Given the description of an element on the screen output the (x, y) to click on. 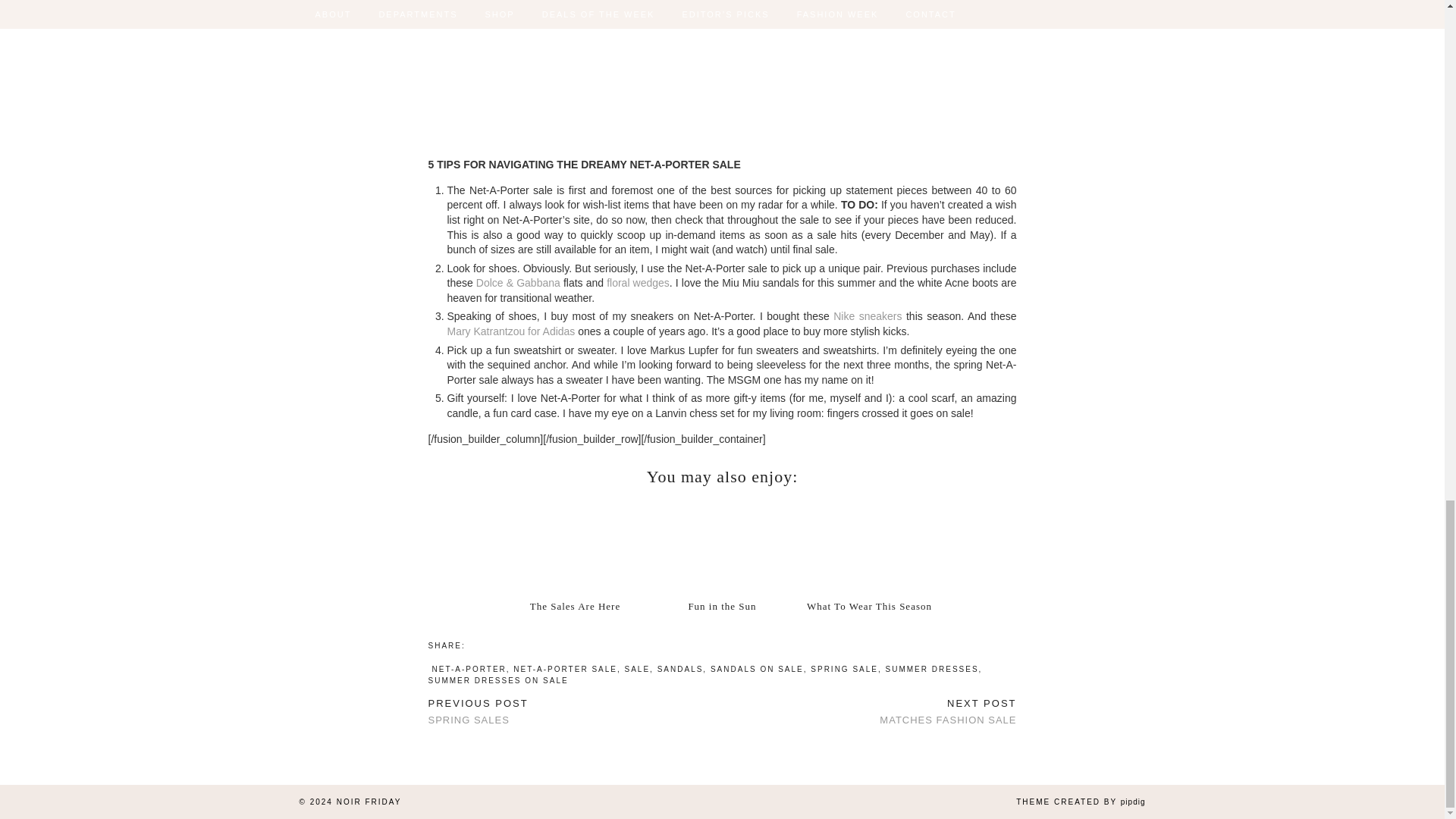
Nike sneakers (866, 316)
What To Wear This Season (868, 544)
The Sales Are Here (574, 544)
floral wedges (638, 282)
Share on Facebook (472, 643)
Fun in the Sun (721, 544)
Fun in the Sun (721, 605)
The Sales Are Here (574, 605)
What To Wear This Season (868, 605)
